Given the description of an element on the screen output the (x, y) to click on. 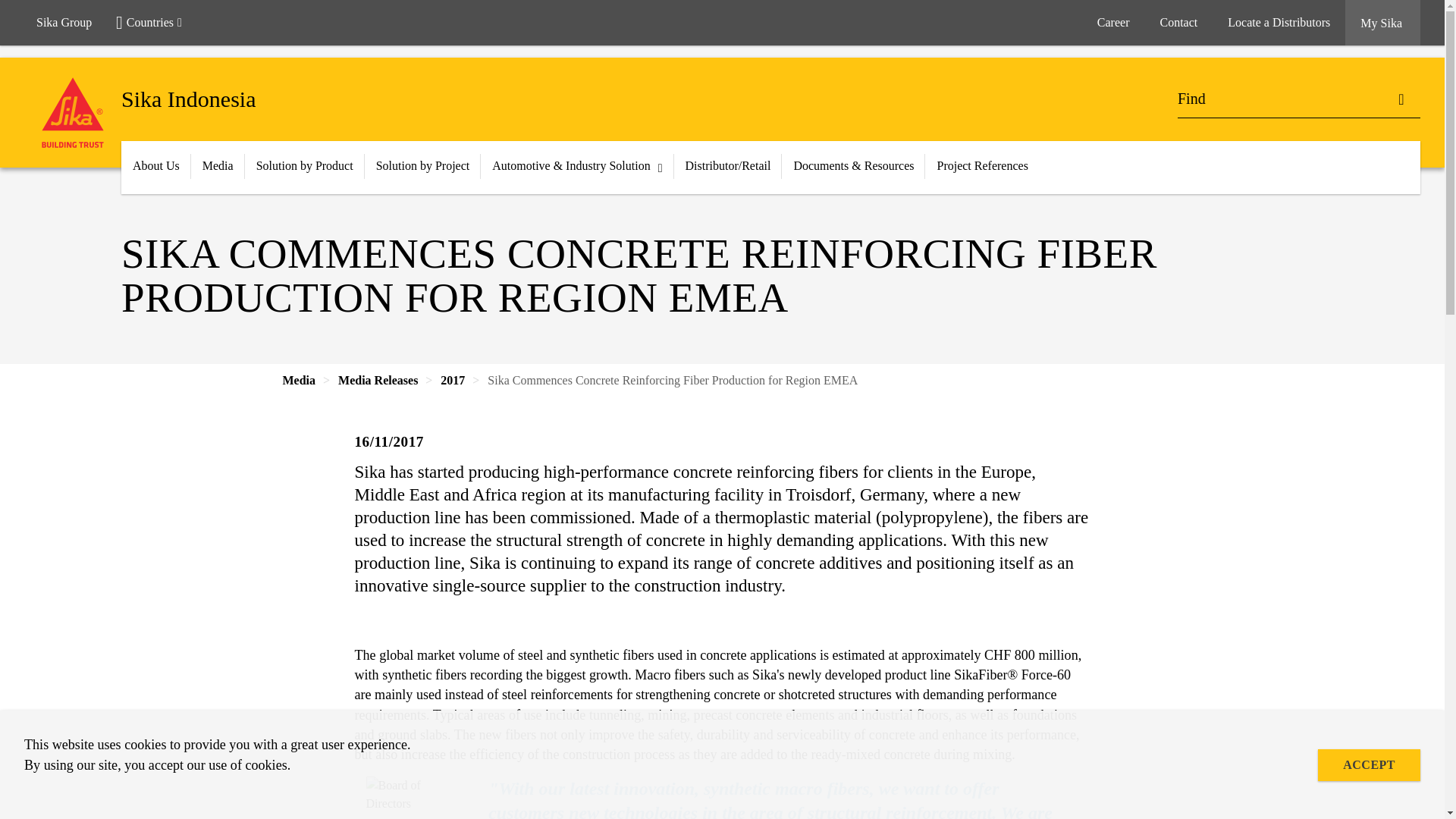
My Sika  (1383, 22)
Sika Group (63, 22)
Locate a Distributors (1278, 22)
Career (1112, 22)
Contact (1178, 22)
Sika Logo (72, 112)
Paul Schuler (415, 793)
Countries (155, 22)
